Given the description of an element on the screen output the (x, y) to click on. 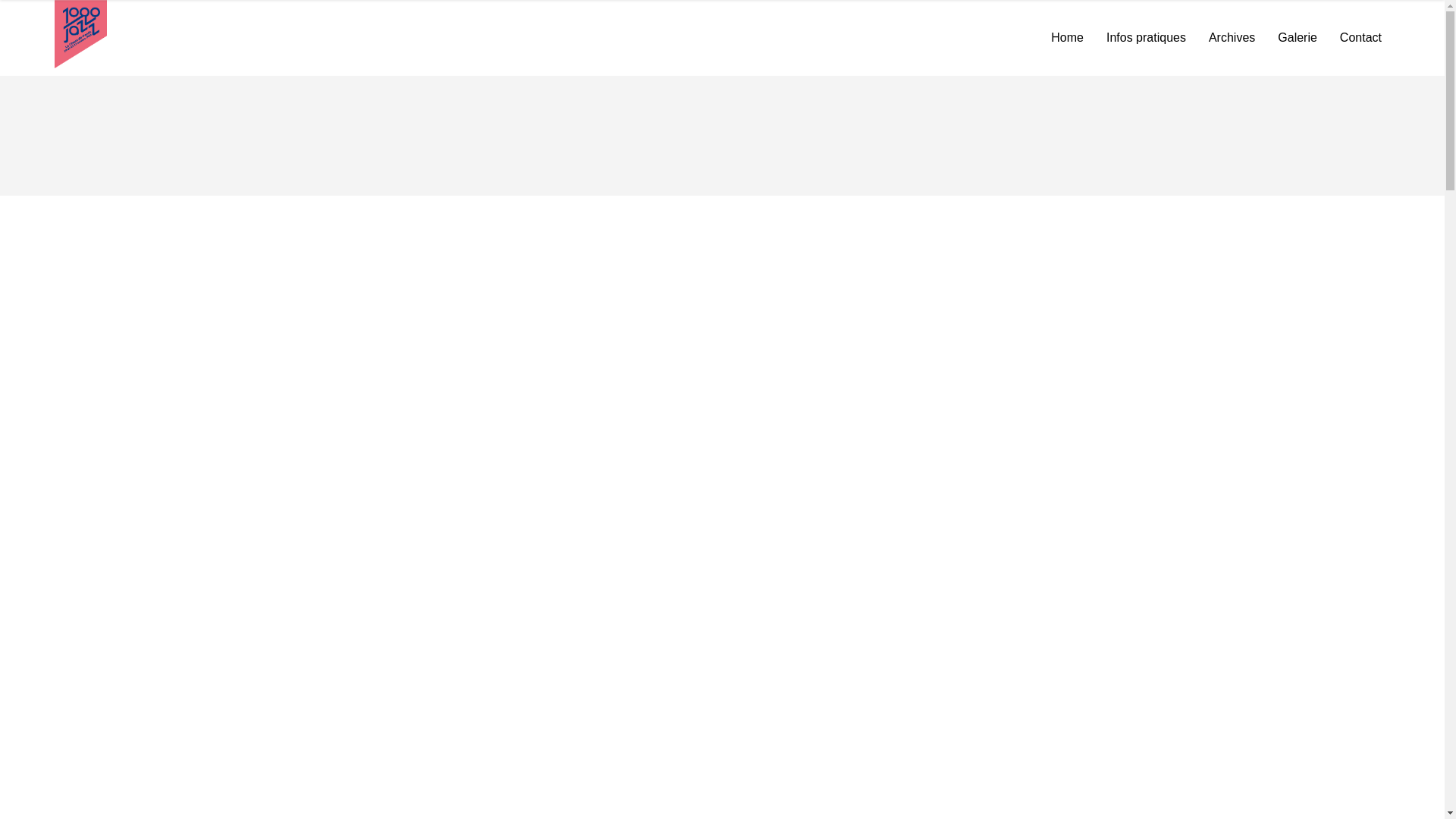
Infos pratiques Element type: text (1146, 37)
Home Element type: text (1067, 37)
Archives Element type: text (1231, 37)
Galerie Element type: text (1297, 37)
Contact Element type: text (1360, 37)
U Element type: text (1097, 403)
